Given the description of an element on the screen output the (x, y) to click on. 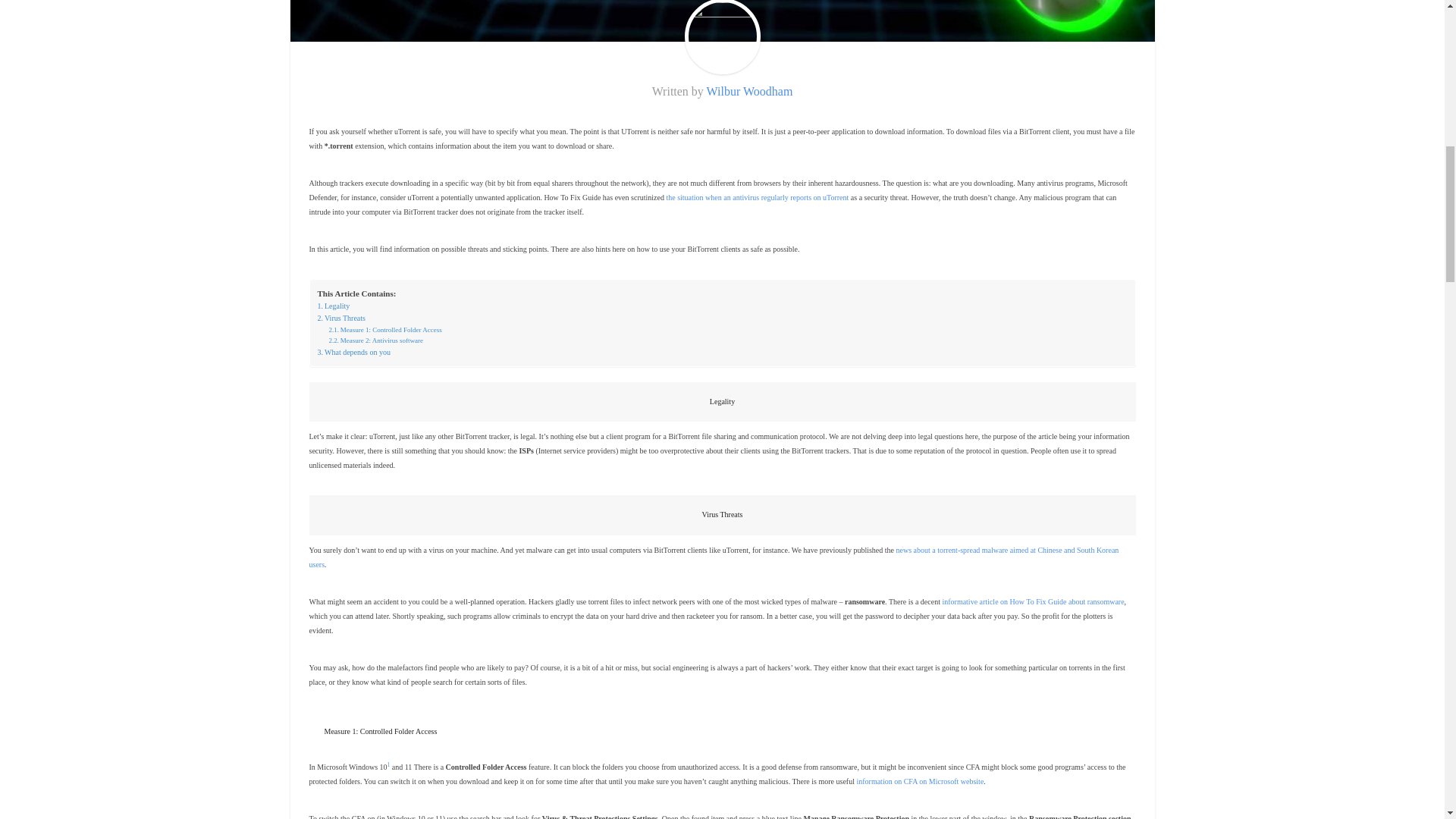
informative article on How To Fix Guide about ransomware (1033, 601)
Virus Threats (341, 318)
Measure 1: Controlled Folder Access (385, 329)
What depends on you (353, 352)
Measure 2: Antivirus software (376, 339)
information on CFA on Microsoft website (920, 781)
Legality (333, 306)
Virus Threats (341, 318)
Measure 1: Controlled Folder Access (385, 329)
